Given the description of an element on the screen output the (x, y) to click on. 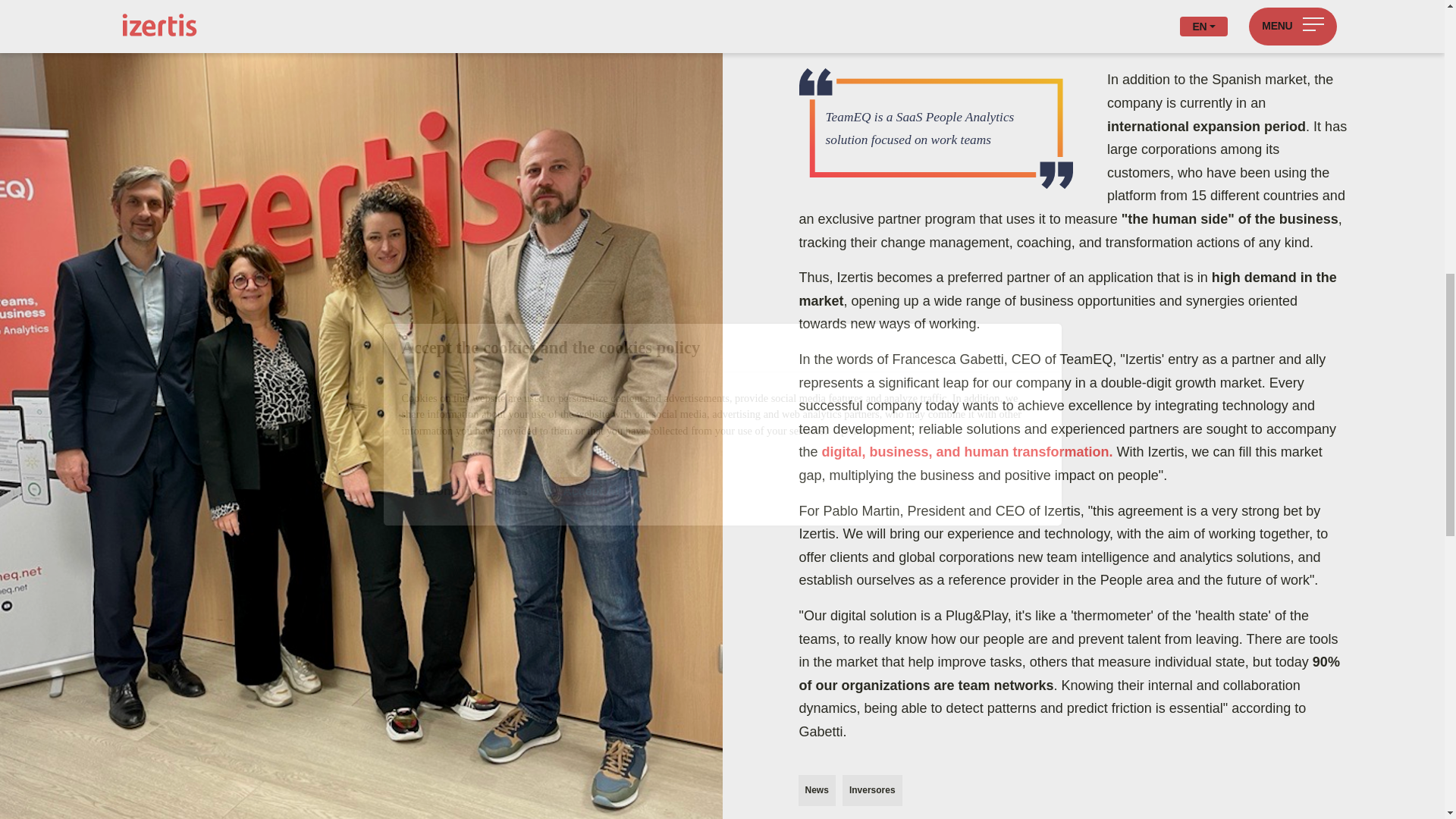
digital, business, and human transformation. (967, 451)
News (815, 789)
Inversores (872, 789)
